Given the description of an element on the screen output the (x, y) to click on. 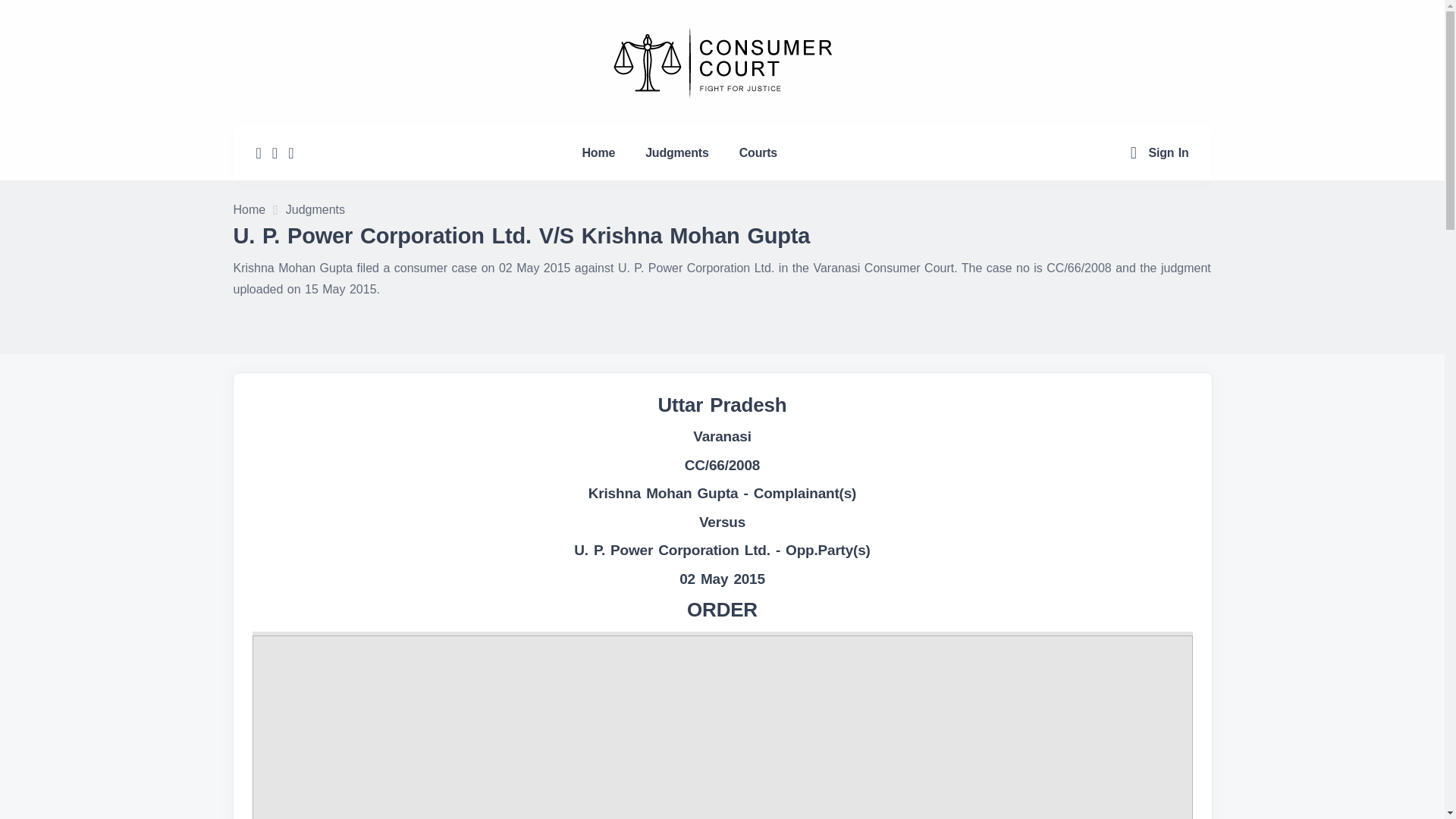
Home (598, 152)
Home (249, 210)
Judgments (676, 152)
Sign In (1168, 152)
Judgments (315, 210)
Courts (757, 152)
